Given the description of an element on the screen output the (x, y) to click on. 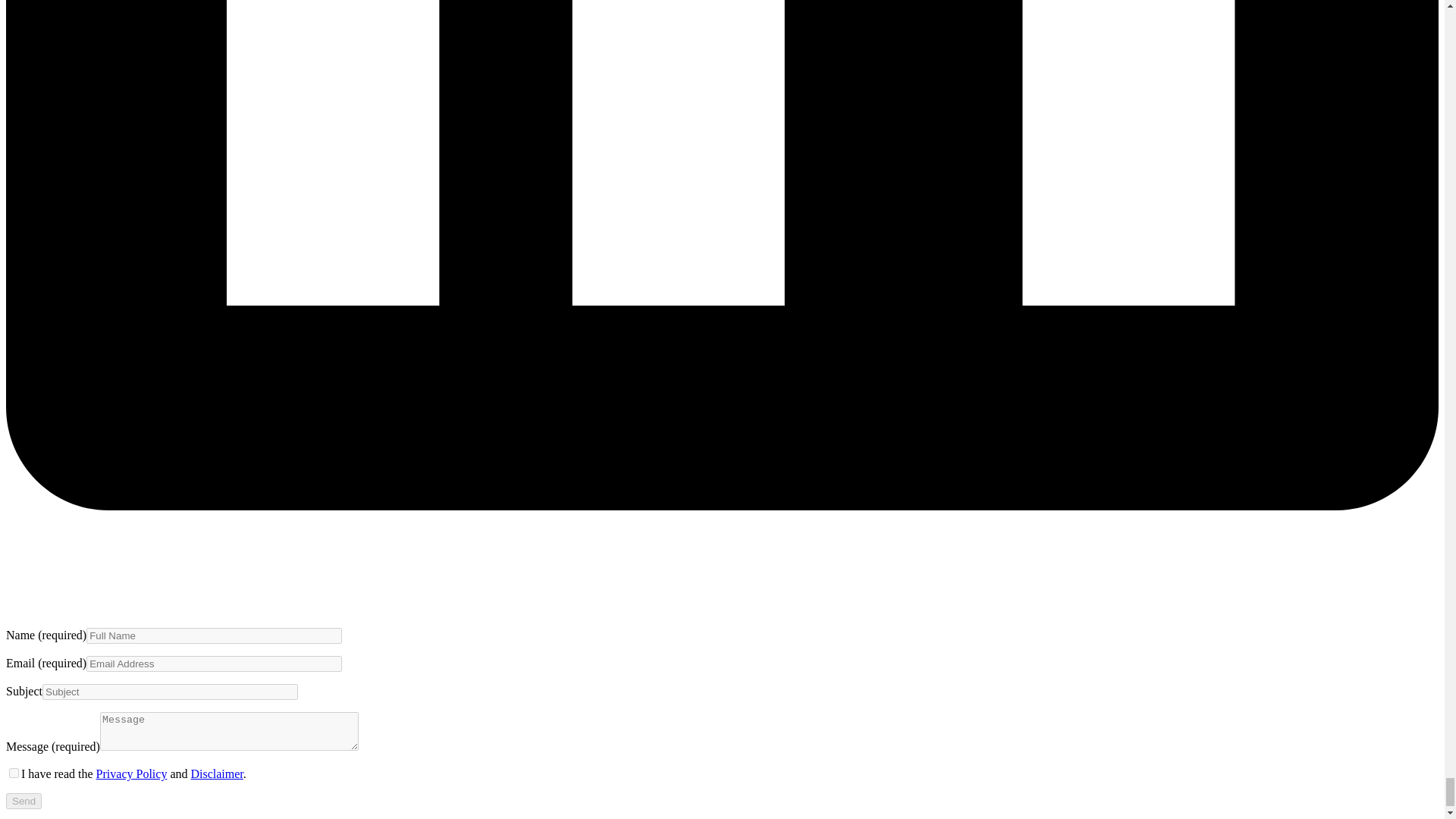
Send (23, 801)
1 (13, 773)
